Given the description of an element on the screen output the (x, y) to click on. 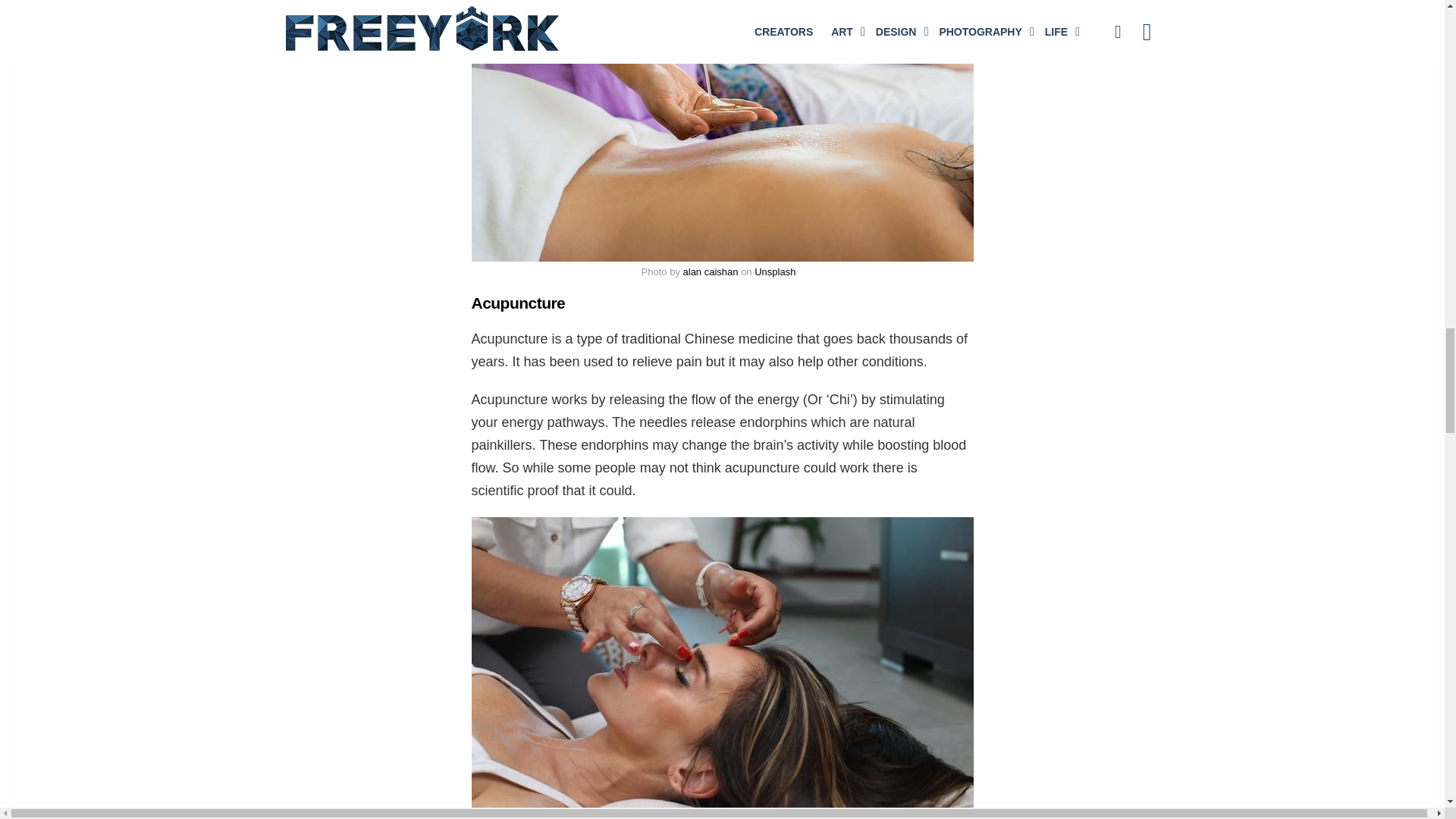
Safe and Effective Ways to Relieve Your Pain (722, 130)
